Given the description of an element on the screen output the (x, y) to click on. 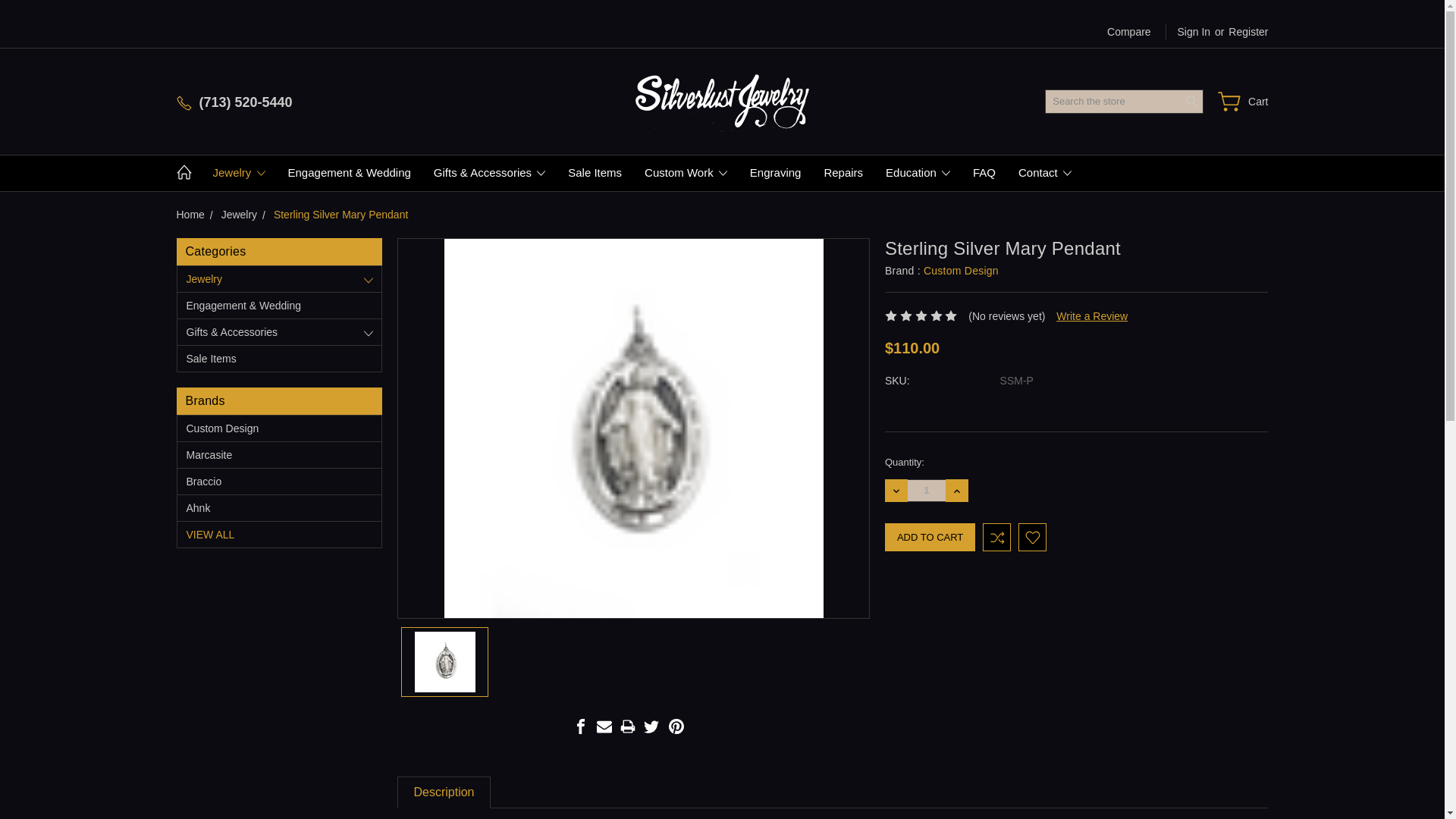
Jewelry (239, 172)
Compare (1128, 32)
Sterling Silver Mary Pendant (445, 661)
Search (1192, 101)
1 (925, 490)
Search (1192, 101)
Sign In (1188, 32)
Search (1192, 101)
Cart (1242, 101)
Add to Cart (930, 537)
Register (1248, 32)
Compare (1128, 32)
Silverlust Fine Jewelry (721, 101)
